Given the description of an element on the screen output the (x, y) to click on. 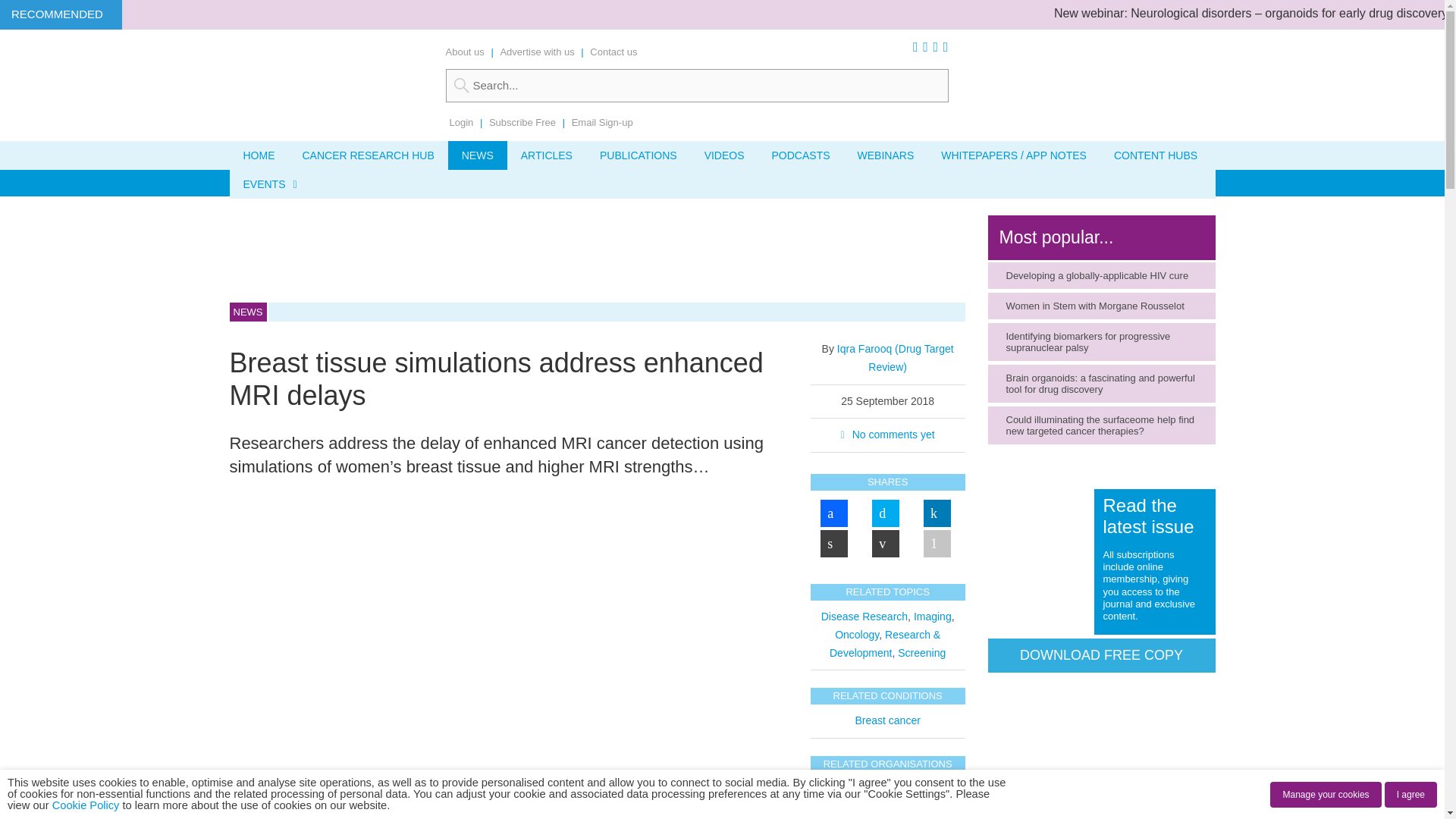
TARGETS (266, 182)
NEWS (477, 154)
PODCASTS (801, 154)
Subscribe Free (522, 122)
Login (460, 122)
SCREENING (349, 182)
IMAGING (676, 182)
HOME (258, 154)
VIDEOS (724, 154)
close (440, 813)
CONTENT HUBS (1155, 154)
About us (464, 51)
STEM CELLS (440, 182)
EVENTS (266, 184)
PUBLICATIONS (638, 154)
